Given the description of an element on the screen output the (x, y) to click on. 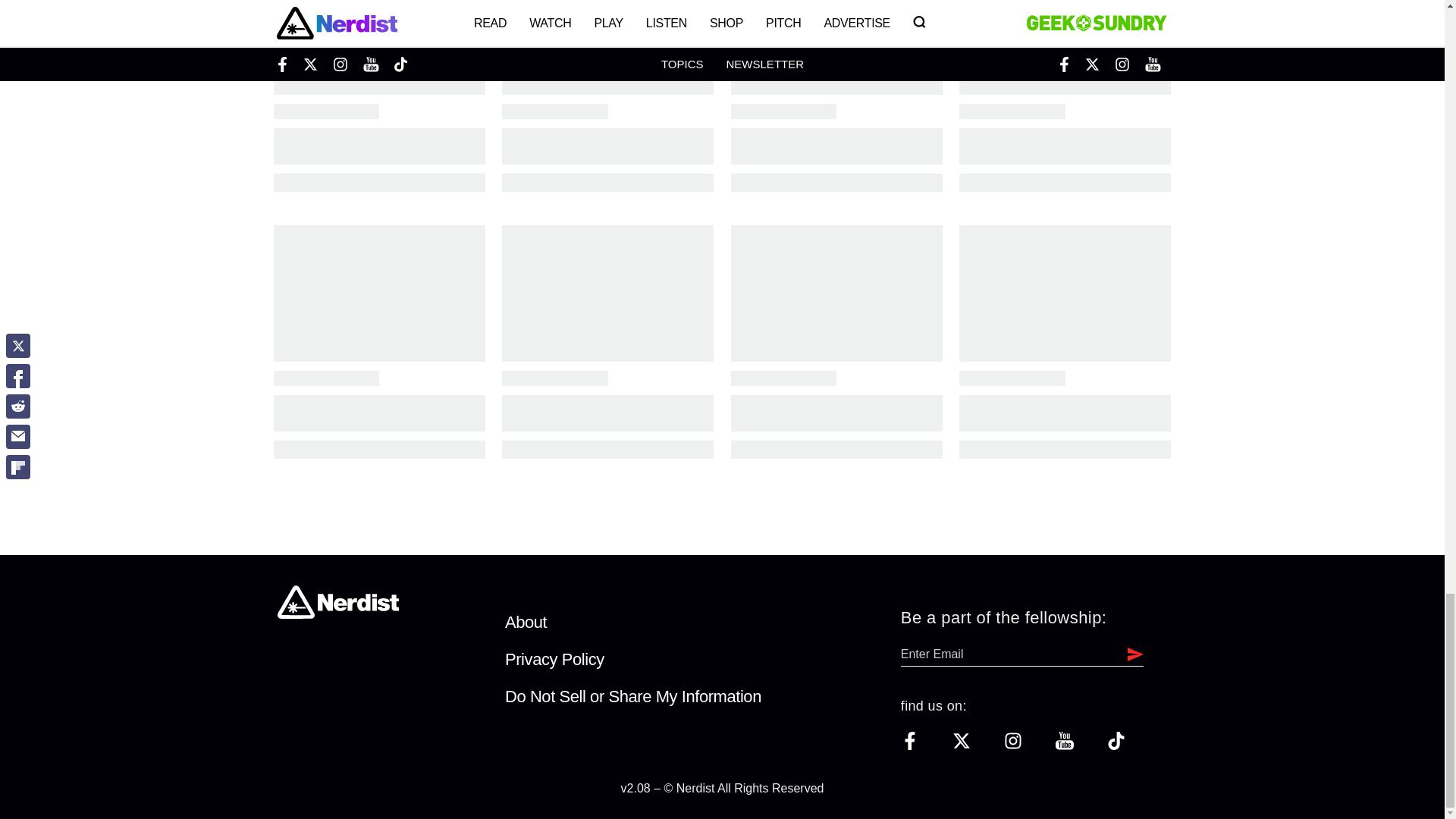
Sign Up (1131, 653)
